Given the description of an element on the screen output the (x, y) to click on. 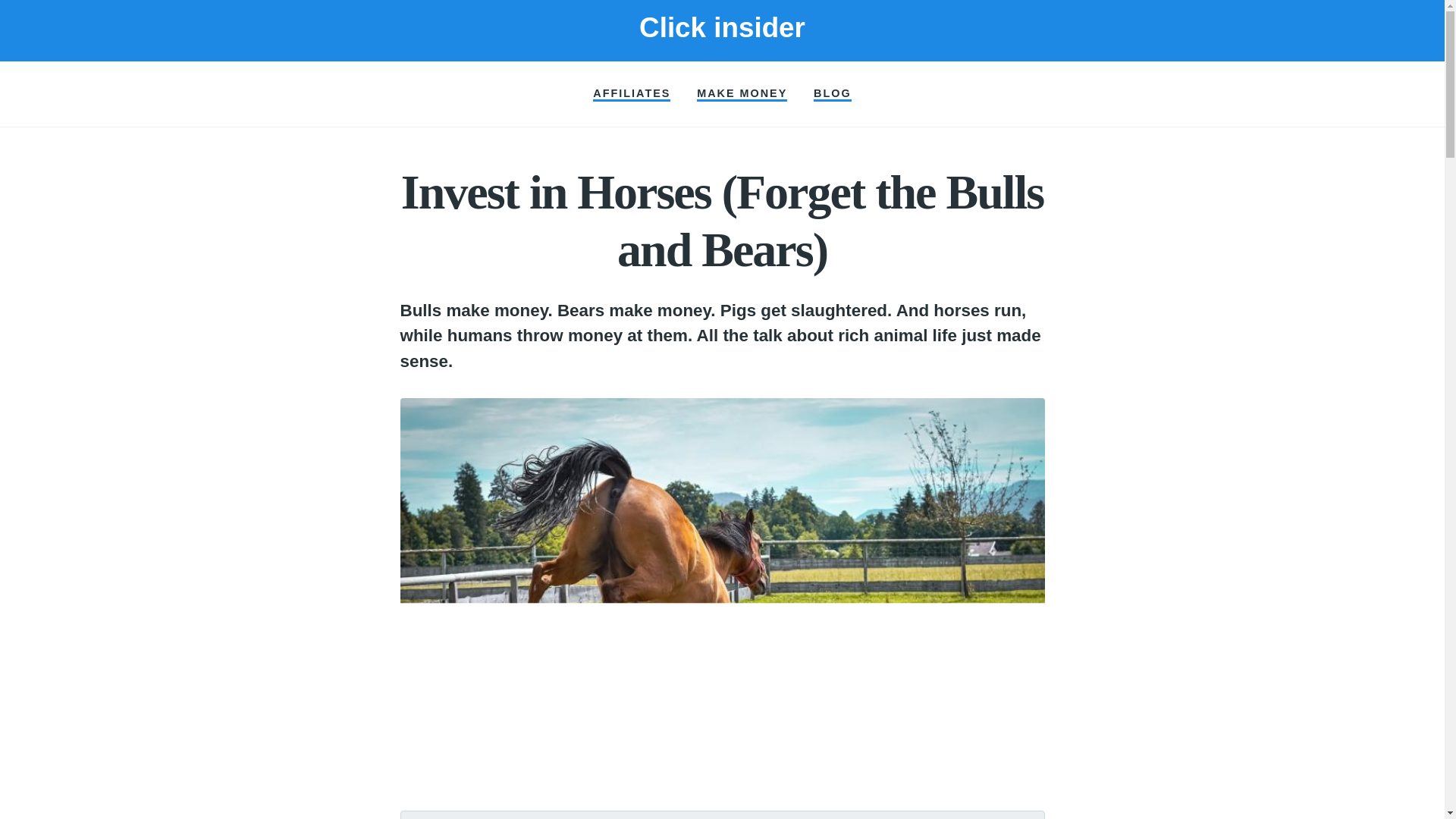
AFFILIATES (630, 93)
Click insider (722, 27)
MAKE MONEY (742, 93)
BLOG (832, 93)
